Given the description of an element on the screen output the (x, y) to click on. 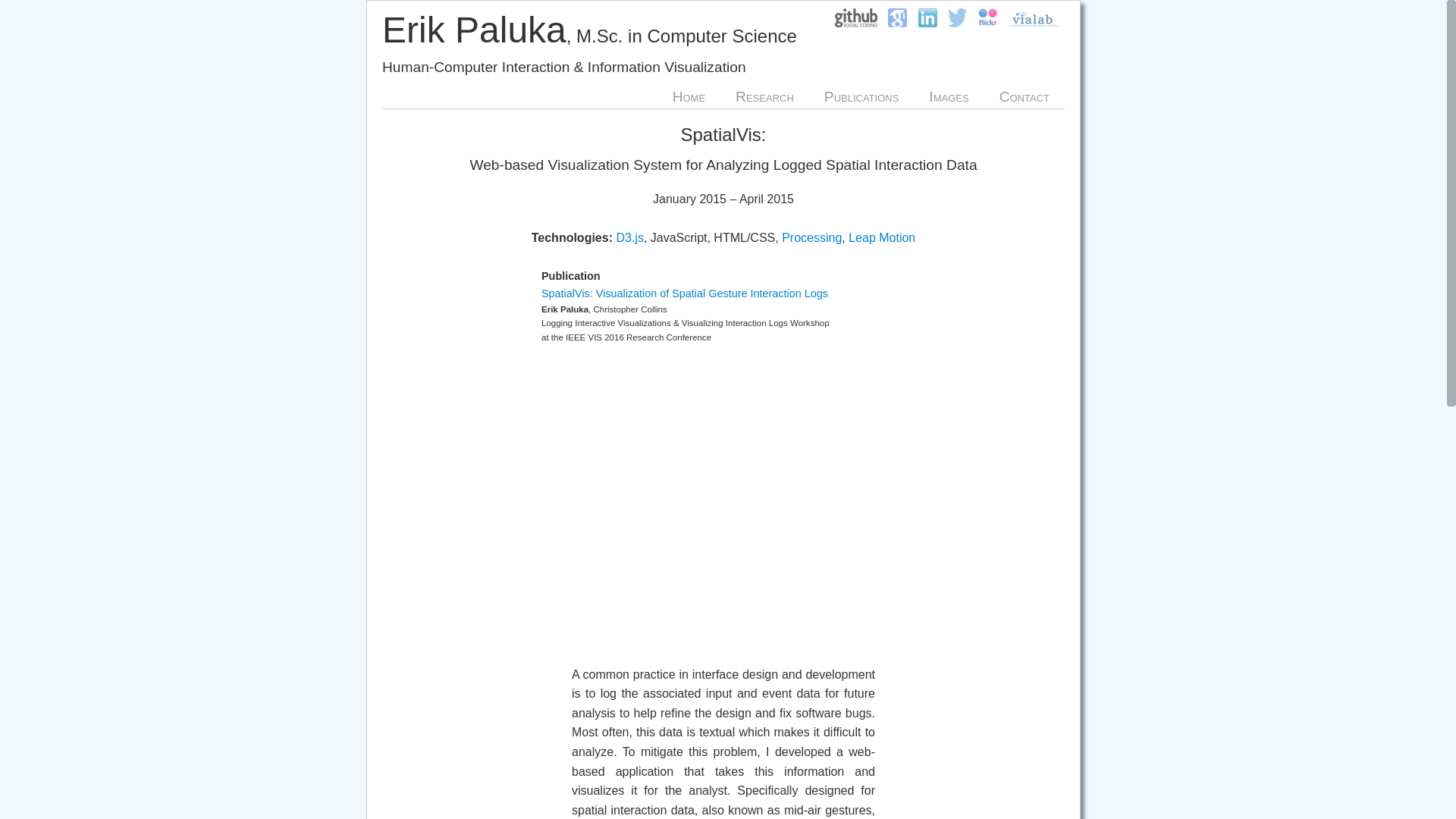
Leap Motion (881, 237)
Processing (811, 237)
vialab Research Group (1034, 30)
Images (948, 96)
flickr (987, 30)
Workshop Website (684, 293)
Contact (1023, 96)
Publications (861, 96)
D3.js (629, 237)
Data-Driven Documents (629, 237)
Twitter (957, 30)
Research (764, 96)
LinkedIn (927, 30)
Google Scholar (897, 30)
